Given the description of an element on the screen output the (x, y) to click on. 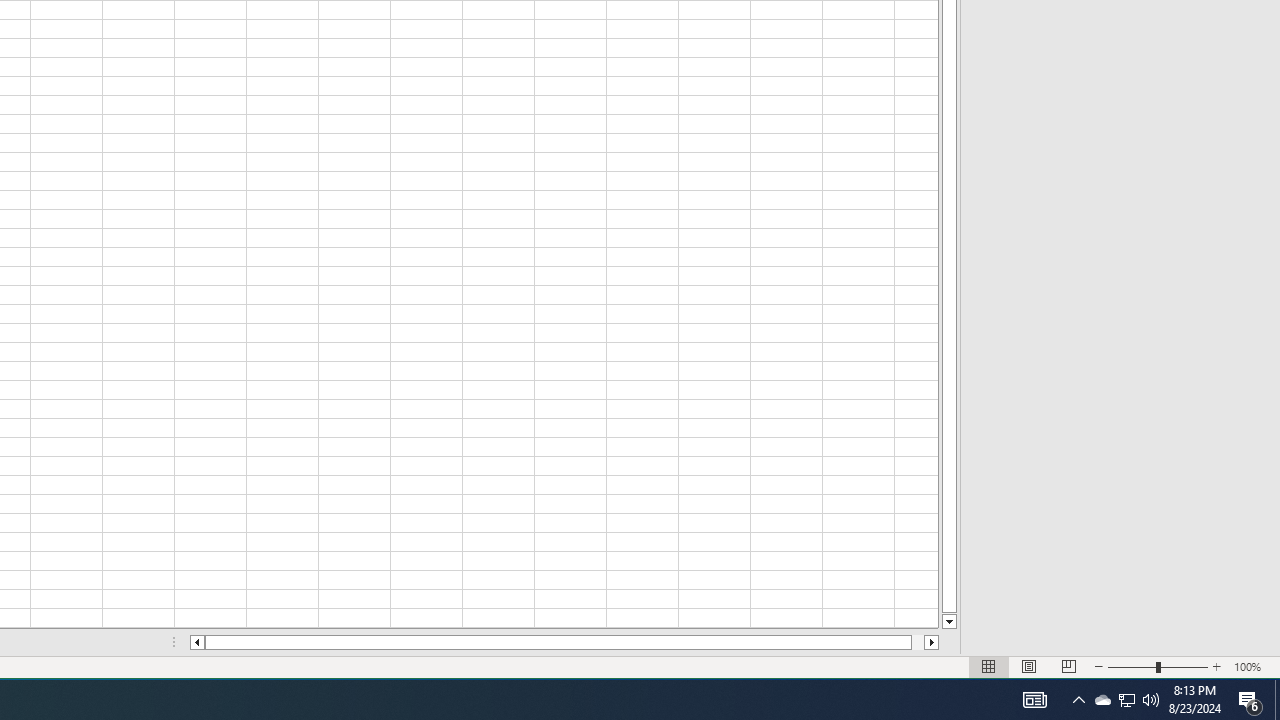
AutomationID: 4105 (1034, 699)
Show desktop (1277, 699)
Notification Chevron (1078, 699)
Q2790: 100% (1151, 699)
